Given the description of an element on the screen output the (x, y) to click on. 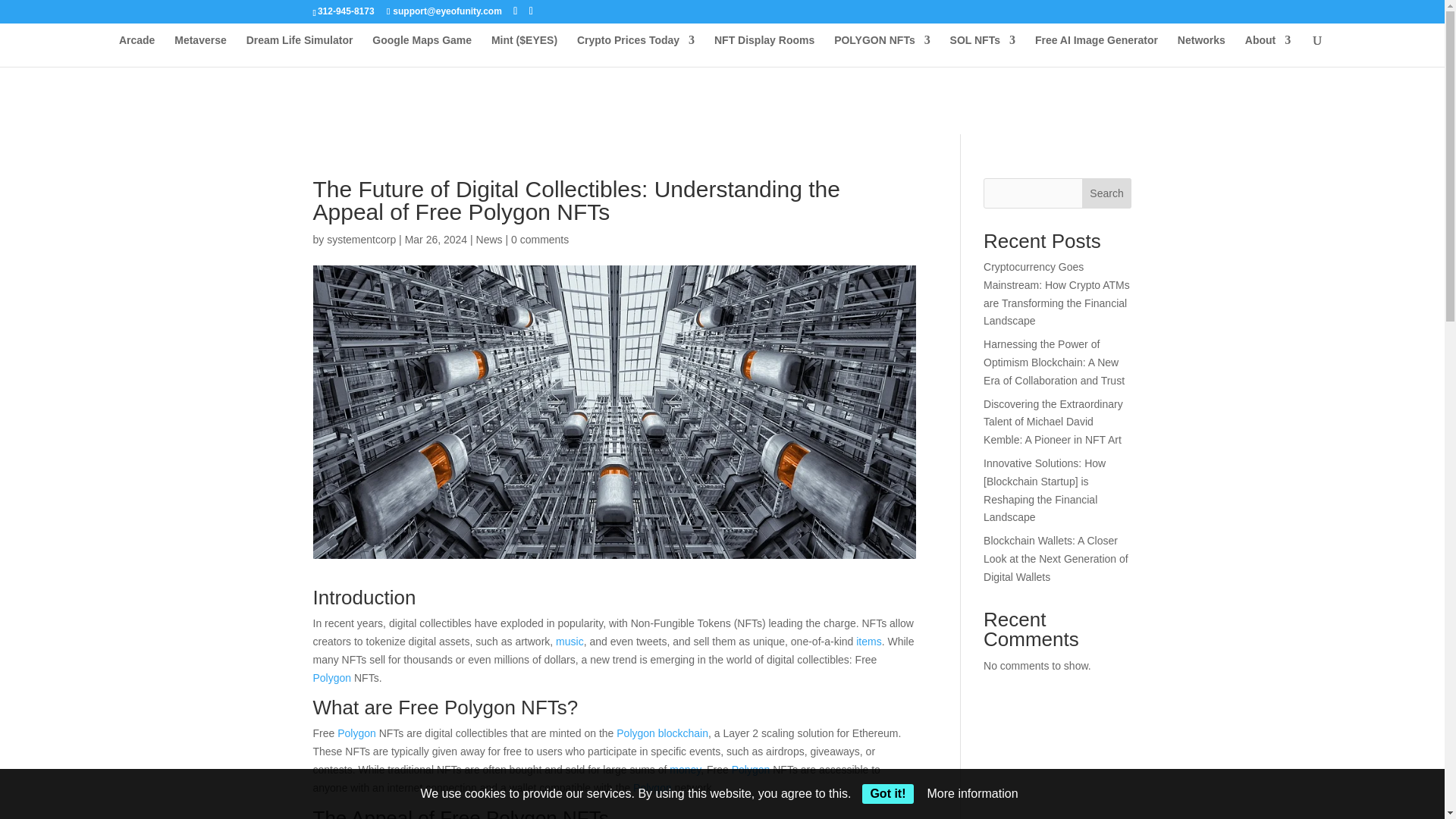
Networks (1201, 50)
Crypto Prices Today (635, 50)
Posts by systementcorp (361, 239)
Metaverse (200, 50)
About (1267, 50)
Free AI Image Generator (1096, 50)
More information (972, 793)
NFT Display Rooms (763, 50)
POLYGON NFTs (882, 50)
Google Maps Game (421, 50)
